Given the description of an element on the screen output the (x, y) to click on. 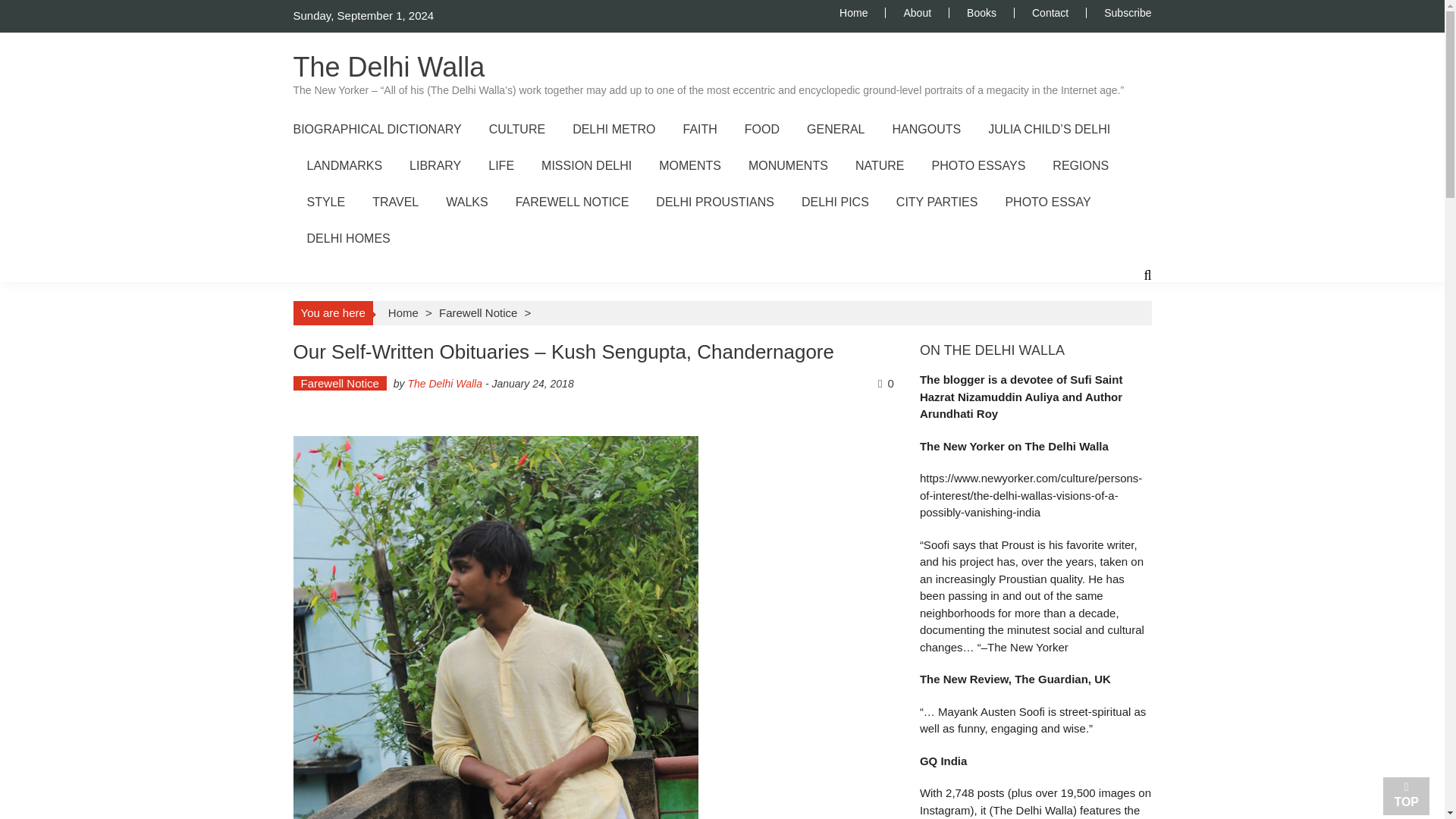
MONUMENTS (788, 164)
PHOTO ESSAY (1047, 201)
GENERAL (835, 128)
Contact (1049, 12)
MISSION DELHI (586, 164)
LANDMARKS (343, 164)
LIFE (500, 164)
FAREWELL NOTICE (571, 201)
REGIONS (1080, 164)
Subscribe (1118, 12)
